Given the description of an element on the screen output the (x, y) to click on. 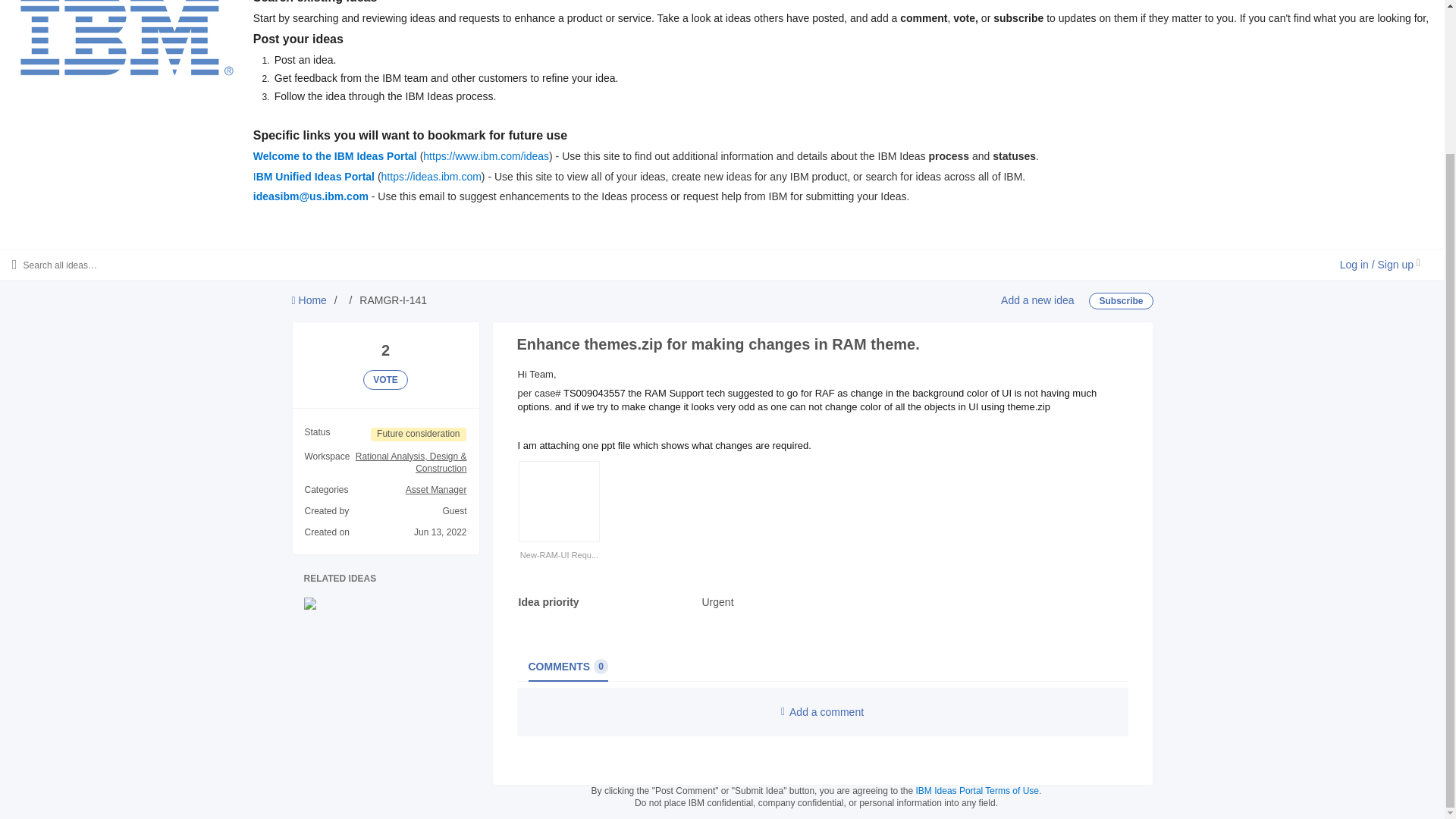
New-RAM-UI Requirement.pptm (558, 554)
Future consideration (567, 666)
IBM Ideas Portal Terms of Use (418, 434)
Add a comment (977, 790)
VOTE (822, 711)
Add a new idea (385, 379)
Subscribe (1037, 300)
IBM Unified Ideas Portal (1121, 300)
New-RAM-UI Requ... (313, 176)
